Given the description of an element on the screen output the (x, y) to click on. 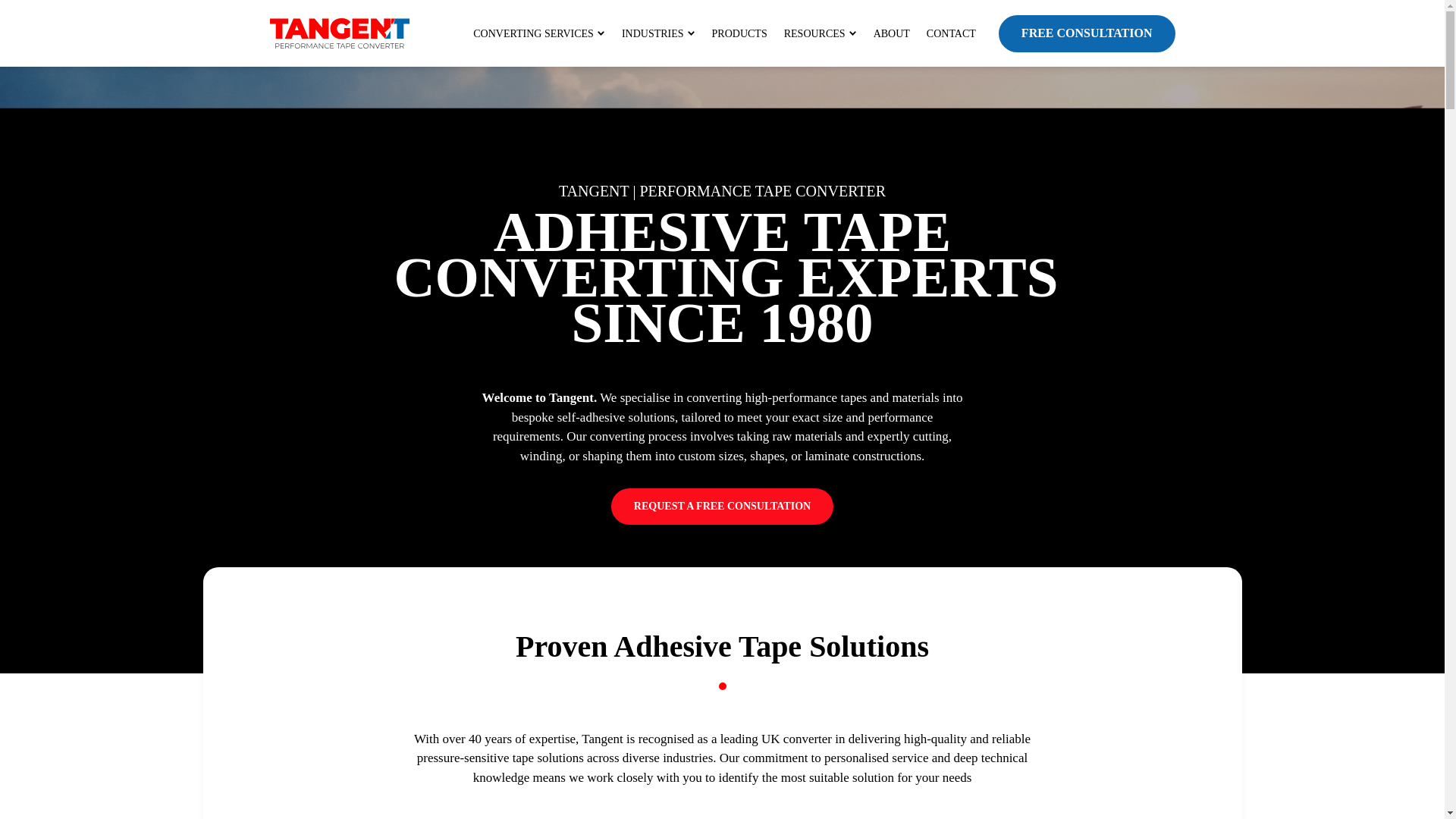
RESOURCES (820, 33)
CONVERTING SERVICES (539, 33)
FREE CONSULTATION (1086, 33)
Tangent Performance Tape Converter (339, 24)
INDUSTRIES (658, 33)
